Given the description of an element on the screen output the (x, y) to click on. 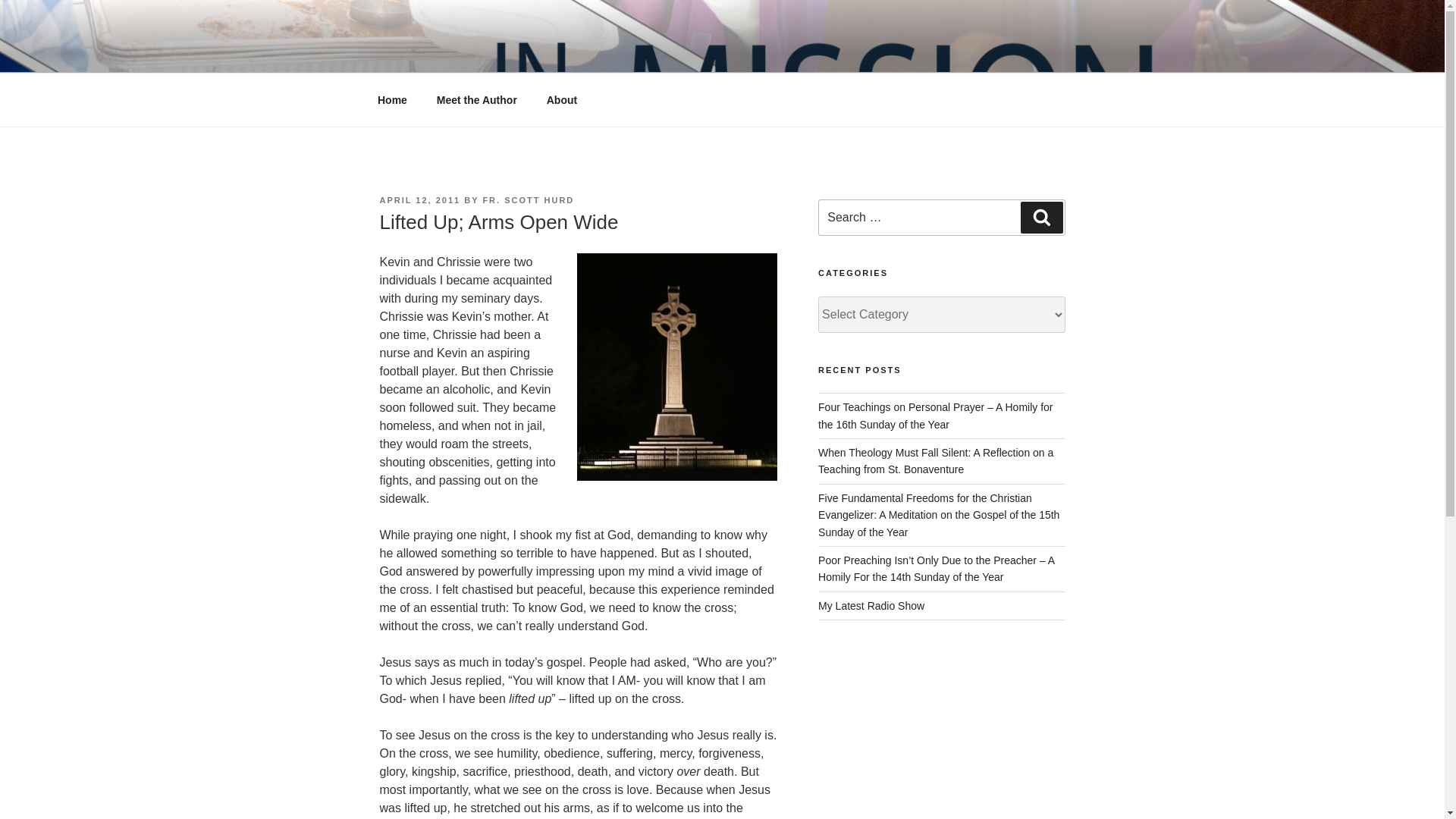
Meet the Author (476, 99)
Search (1041, 217)
APRIL 12, 2011 (419, 199)
About (560, 99)
FR. SCOTT HURD (527, 199)
My Latest Radio Show (871, 605)
COMMUNITY IN MISSION (563, 52)
Home (392, 99)
